Given the description of an element on the screen output the (x, y) to click on. 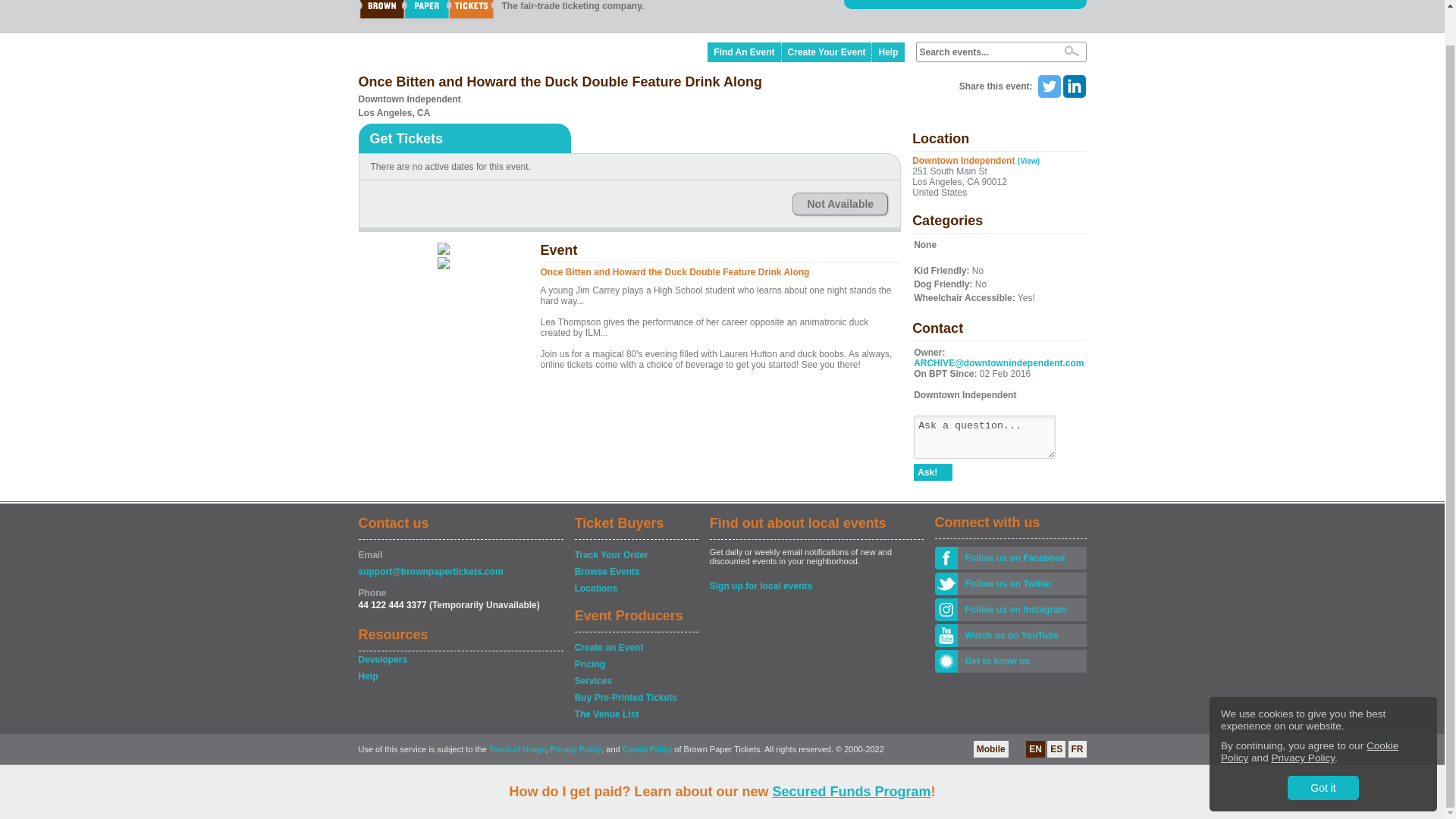
Follow us on Facebook (1021, 558)
Locations (636, 588)
Not Available (840, 203)
Sign Me Up! (883, 0)
Create Your Event (826, 52)
Services (636, 680)
Cookie Policy (1309, 715)
Got it (1322, 751)
Privacy Policy (1303, 721)
Search events... (984, 51)
Got it (1322, 751)
Pricing (636, 663)
The Venue List (636, 713)
Follow us on Instagram (1021, 609)
Help (888, 52)
